Given the description of an element on the screen output the (x, y) to click on. 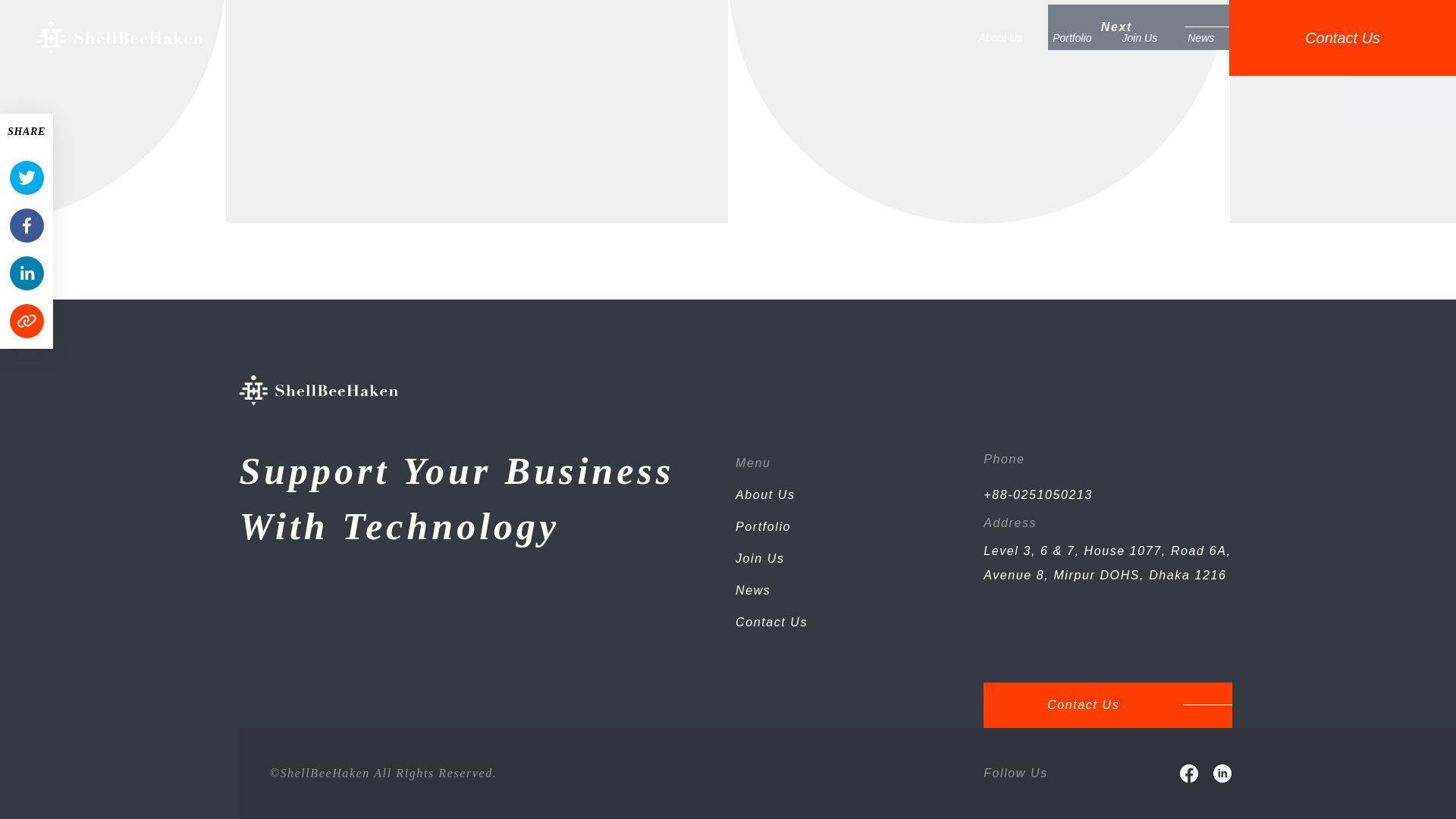
Join Us (759, 558)
About Us (764, 494)
Next (1139, 26)
Contact Us (771, 621)
News (752, 590)
Portfolio (762, 526)
Menu (752, 462)
Contact Us (1107, 705)
